Given the description of an element on the screen output the (x, y) to click on. 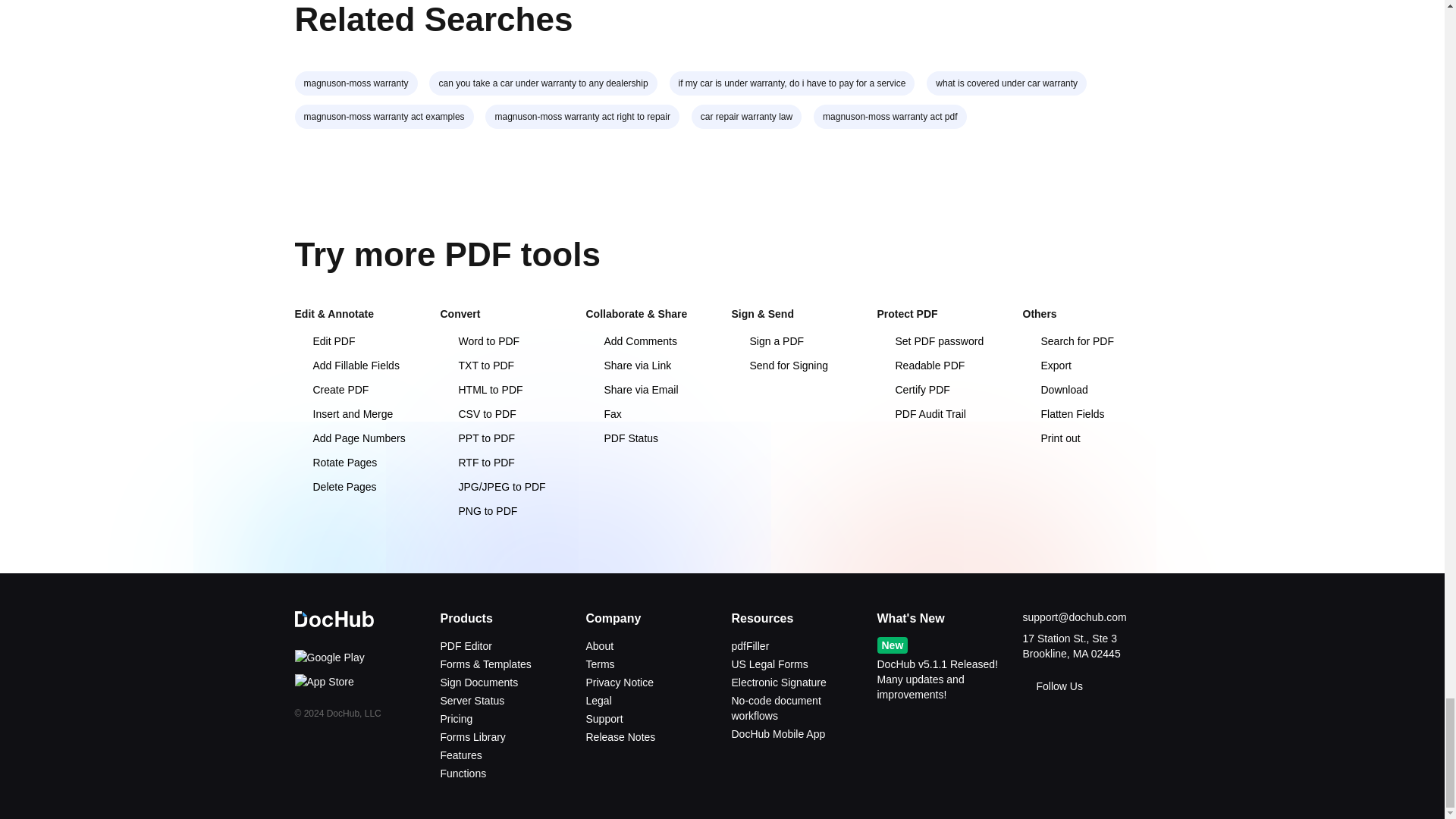
RTF to PDF (476, 462)
Rotate Pages (335, 462)
Delete Pages (334, 486)
Insert and Merge (343, 413)
Fax (603, 413)
PNG to PDF (477, 510)
CSV to PDF (477, 413)
PDF Status (621, 438)
Sign a PDF (766, 340)
Add Page Numbers (349, 438)
Share via Link (628, 365)
Edit PDF (324, 340)
Add Comments (631, 340)
Word to PDF (479, 340)
TXT to PDF (476, 365)
